Given the description of an element on the screen output the (x, y) to click on. 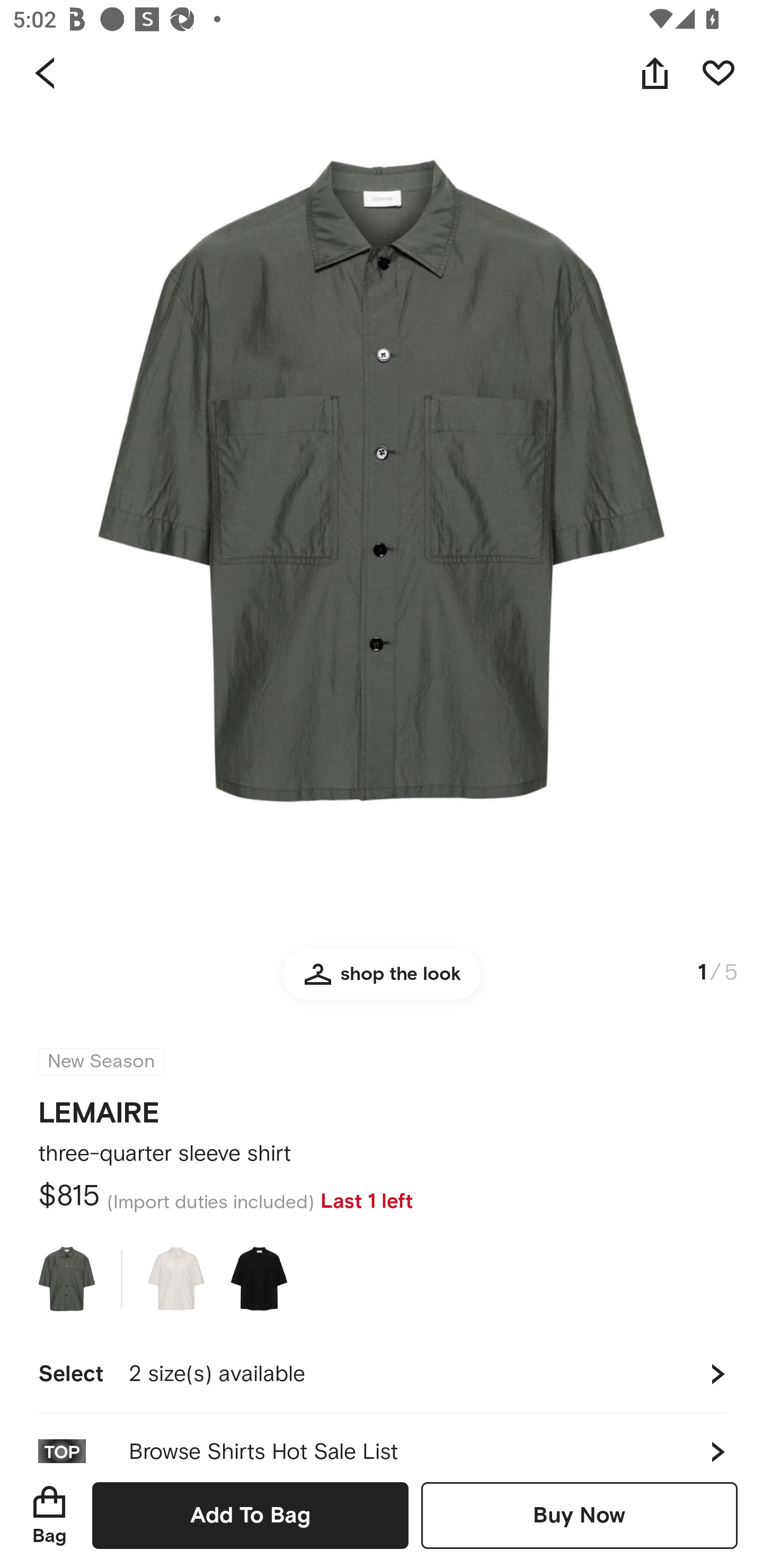
shop the look (381, 982)
LEMAIRE (98, 1107)
Select 2 size(s) available (381, 1373)
Browse Shirts Hot Sale List (381, 1438)
Bag (49, 1515)
Add To Bag (250, 1515)
Buy Now (579, 1515)
